Given the description of an element on the screen output the (x, y) to click on. 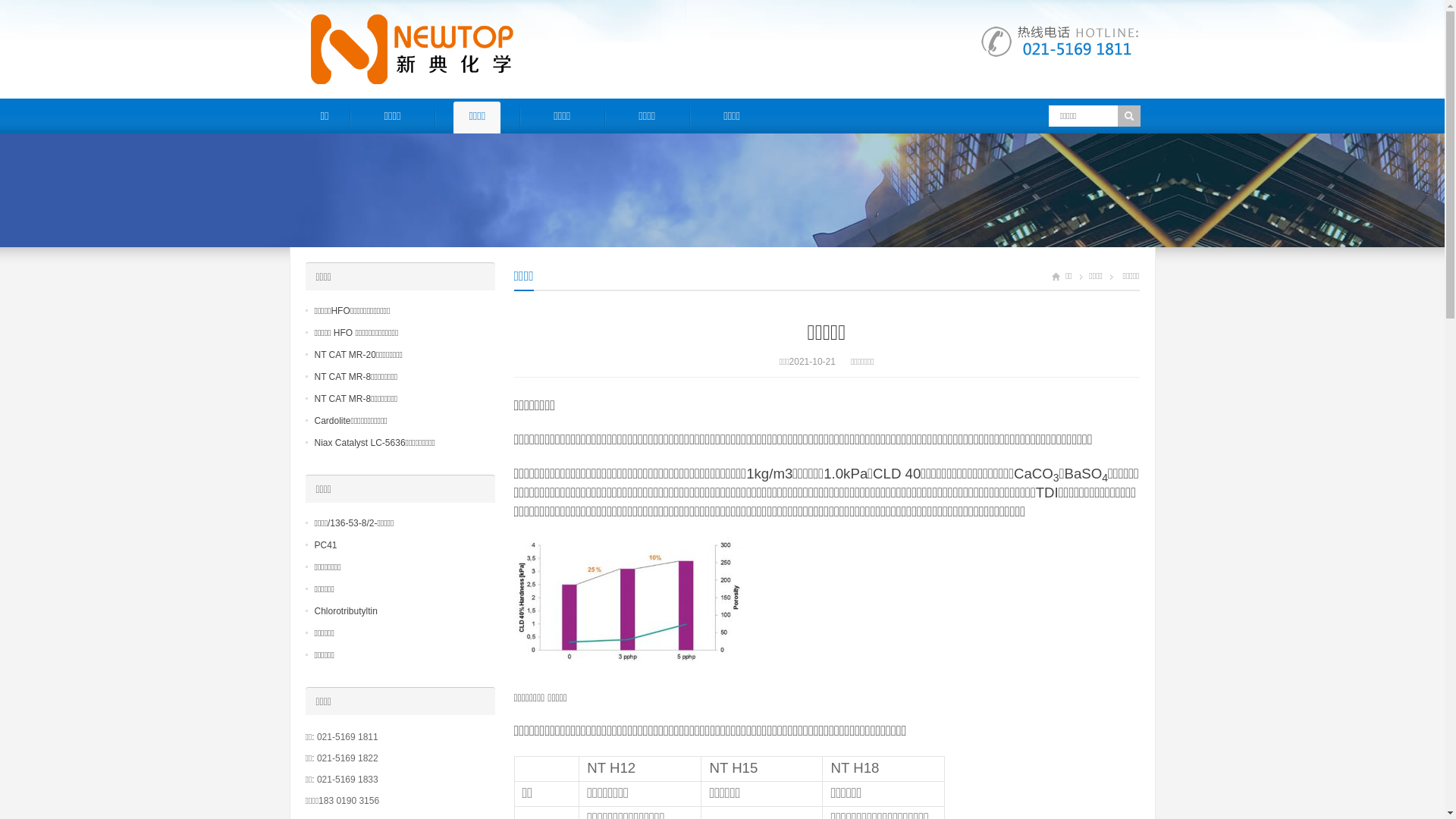
Chlorotributyltin Element type: text (344, 610)
PC41 Element type: text (324, 544)
